Given the description of an element on the screen output the (x, y) to click on. 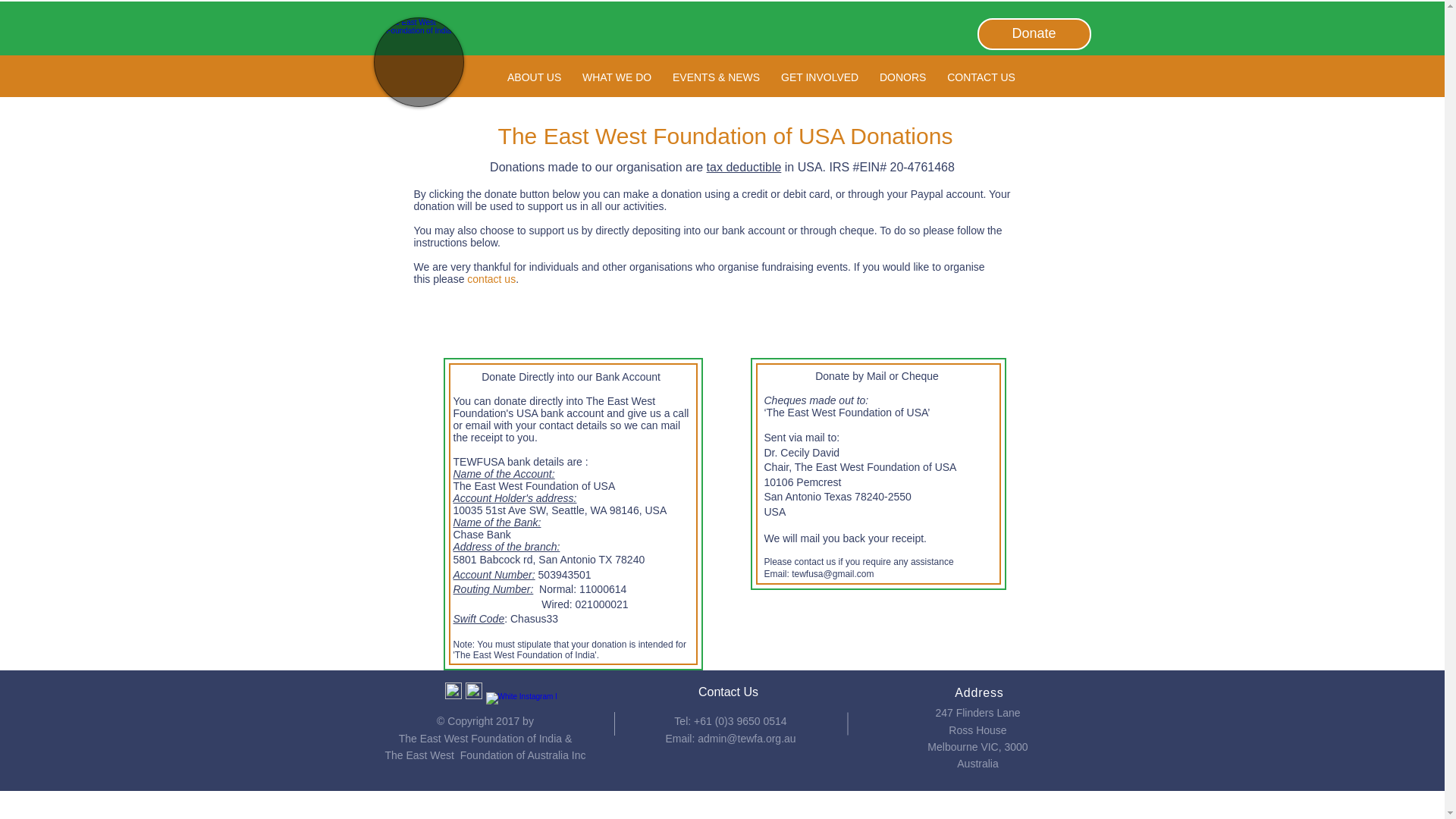
The East West Foundation (576, 92)
GET INVOLVED (819, 77)
CONTACT US (981, 77)
tax deductible (743, 166)
contact us (491, 278)
DONORS (902, 77)
ABOUT US (534, 77)
Donate (1033, 33)
WHAT WE DO (617, 77)
